Given the description of an element on the screen output the (x, y) to click on. 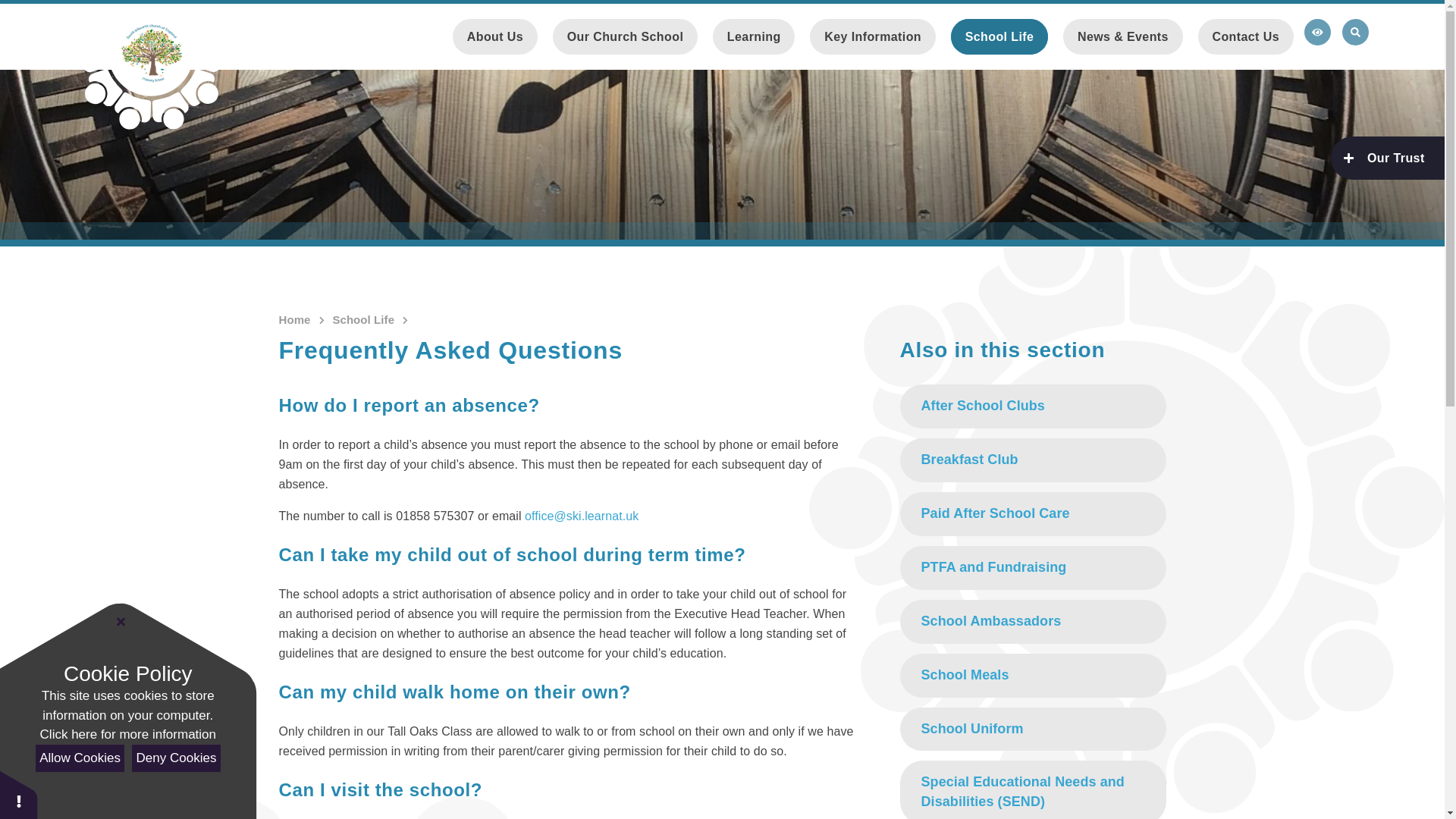
Our Church School (625, 36)
Learning (753, 36)
About Us (494, 36)
Allow Cookies (78, 758)
Deny Cookies (175, 758)
See cookie policy (127, 734)
